Given the description of an element on the screen output the (x, y) to click on. 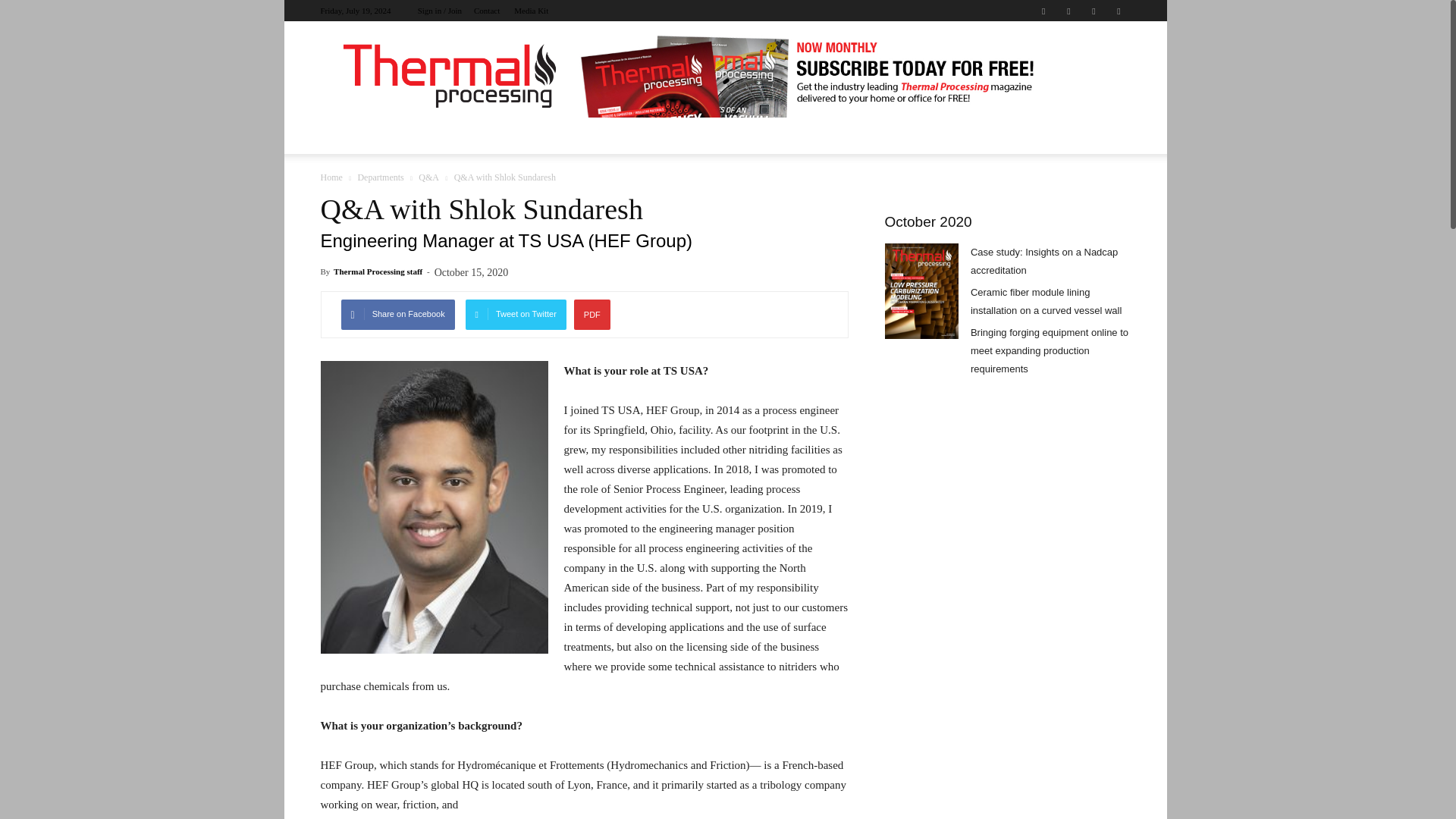
Twitter (1117, 10)
Facebook (1043, 10)
Media Kit (530, 10)
RSS (1093, 10)
Contact (486, 10)
Linkedin (1068, 10)
